Given the description of an element on the screen output the (x, y) to click on. 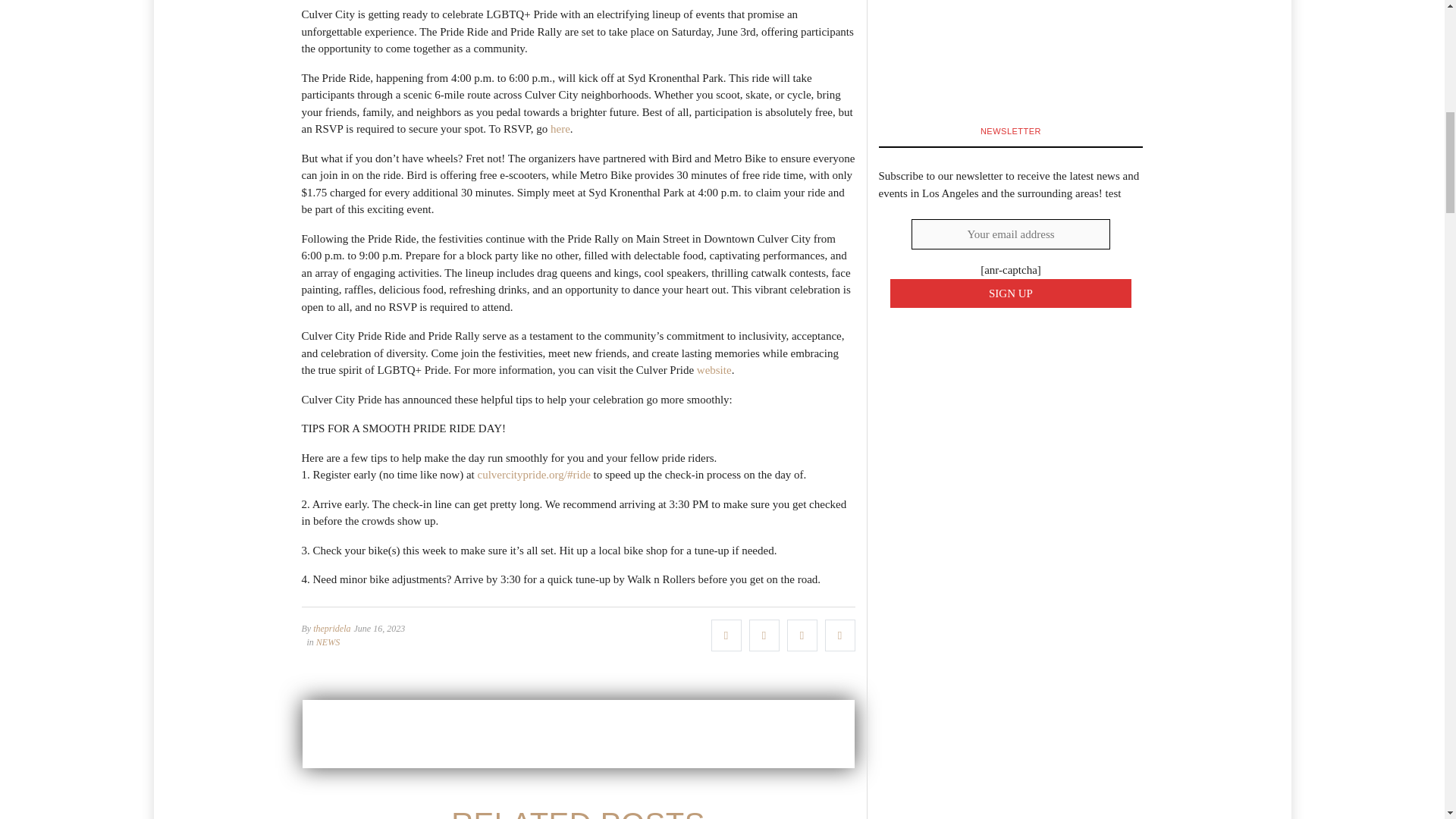
website (714, 369)
NEWS (327, 642)
Posts by thepridela (331, 628)
3rd party ad content (577, 734)
thepridela (331, 628)
here (560, 128)
Sign up (1010, 293)
